Given the description of an element on the screen output the (x, y) to click on. 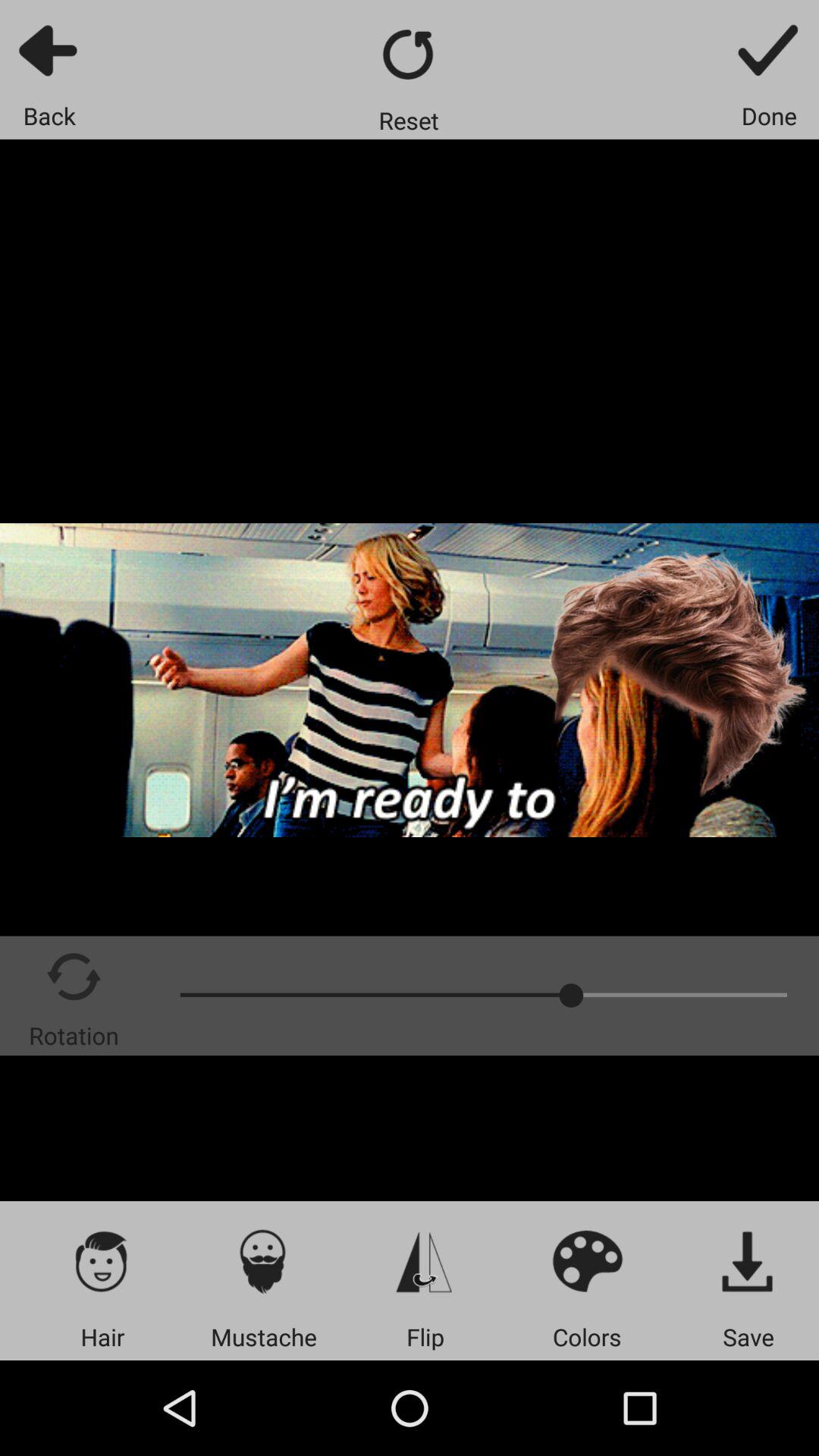
choose a hairstyle (102, 1260)
